Given the description of an element on the screen output the (x, y) to click on. 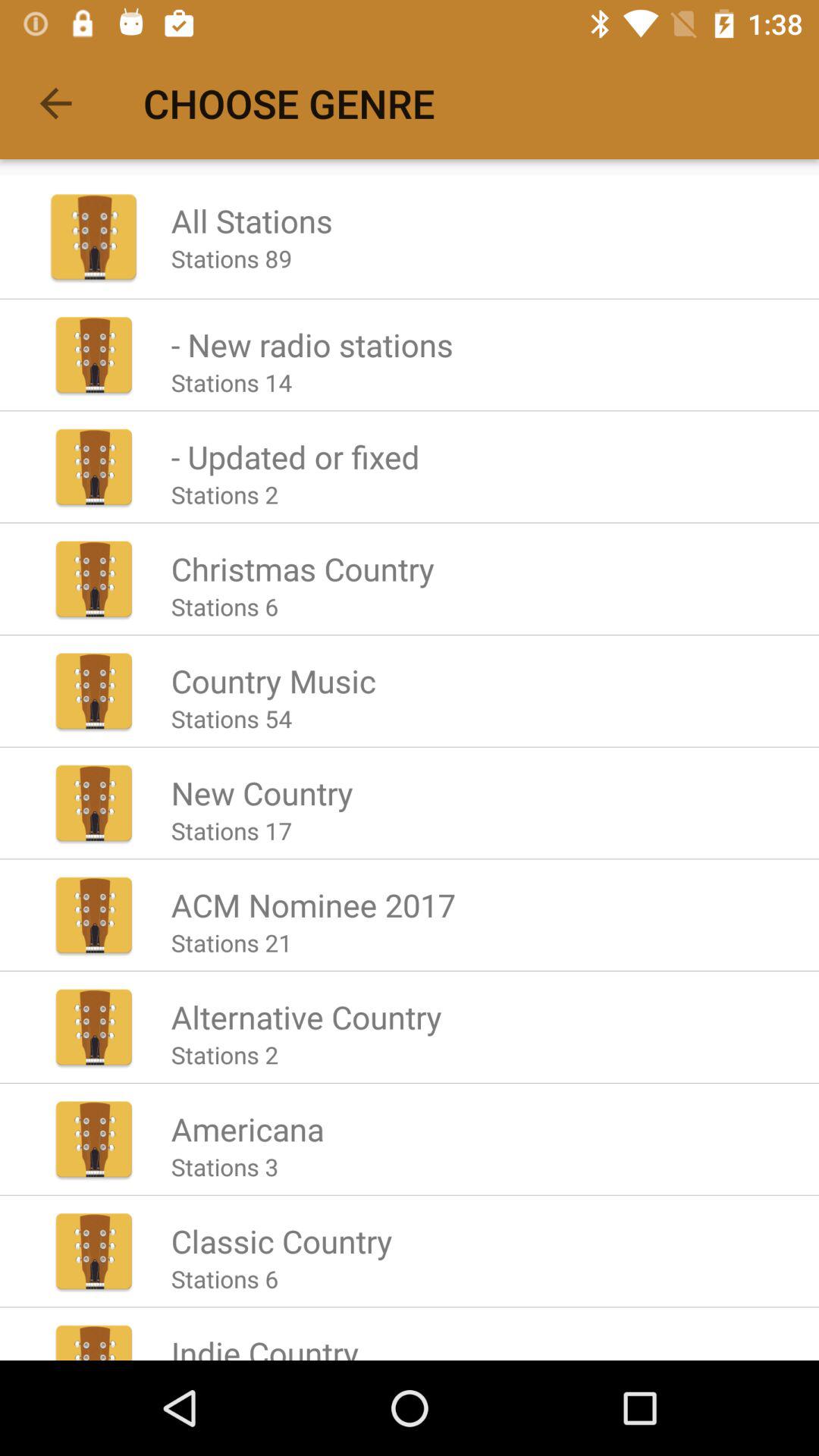
press stations 17 item (231, 830)
